Given the description of an element on the screen output the (x, y) to click on. 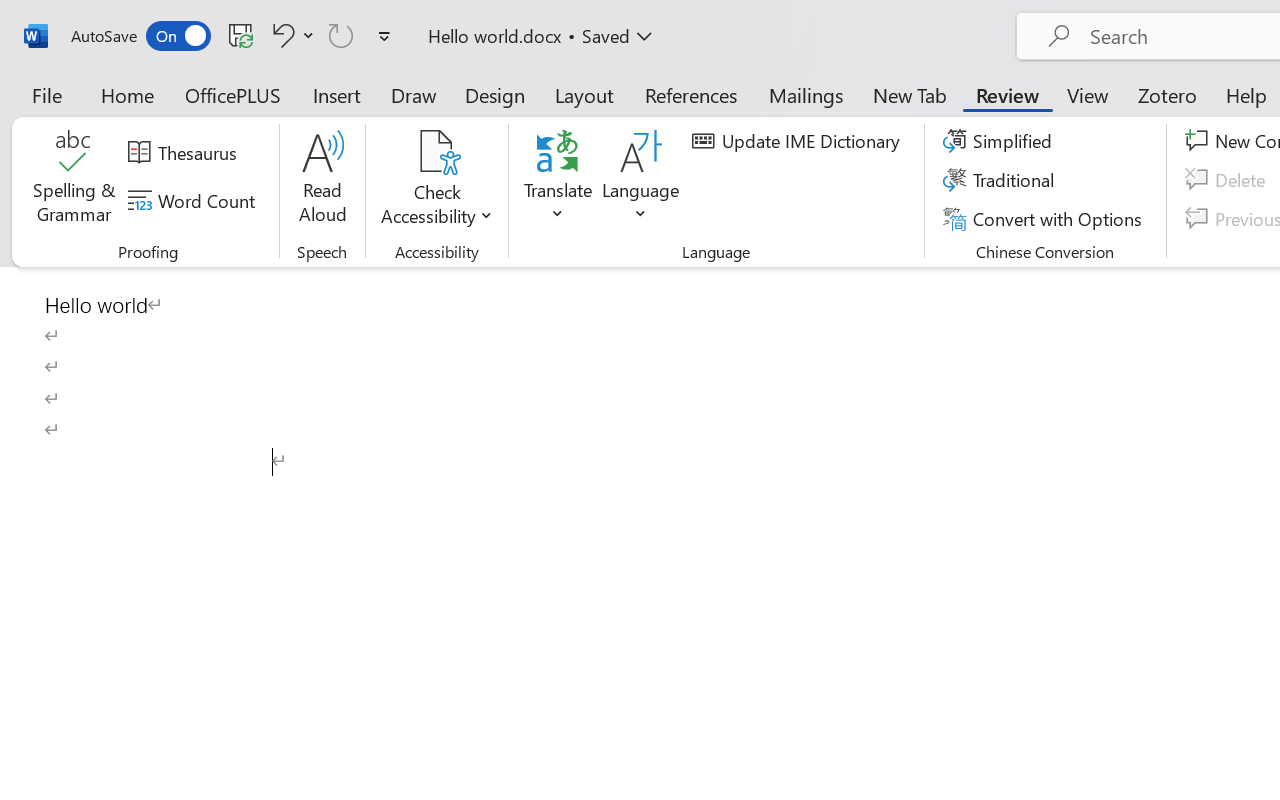
Traditional (1001, 179)
View (1087, 94)
Zotero (1166, 94)
References (690, 94)
Convert with Options... (1045, 218)
Insert (337, 94)
Customize Quick Access Toolbar (384, 35)
Home (127, 94)
Save (241, 35)
Check Accessibility (436, 151)
More Options (436, 208)
Mailings (806, 94)
Draw (413, 94)
AutoSave (140, 35)
Read Aloud (322, 179)
